Given the description of an element on the screen output the (x, y) to click on. 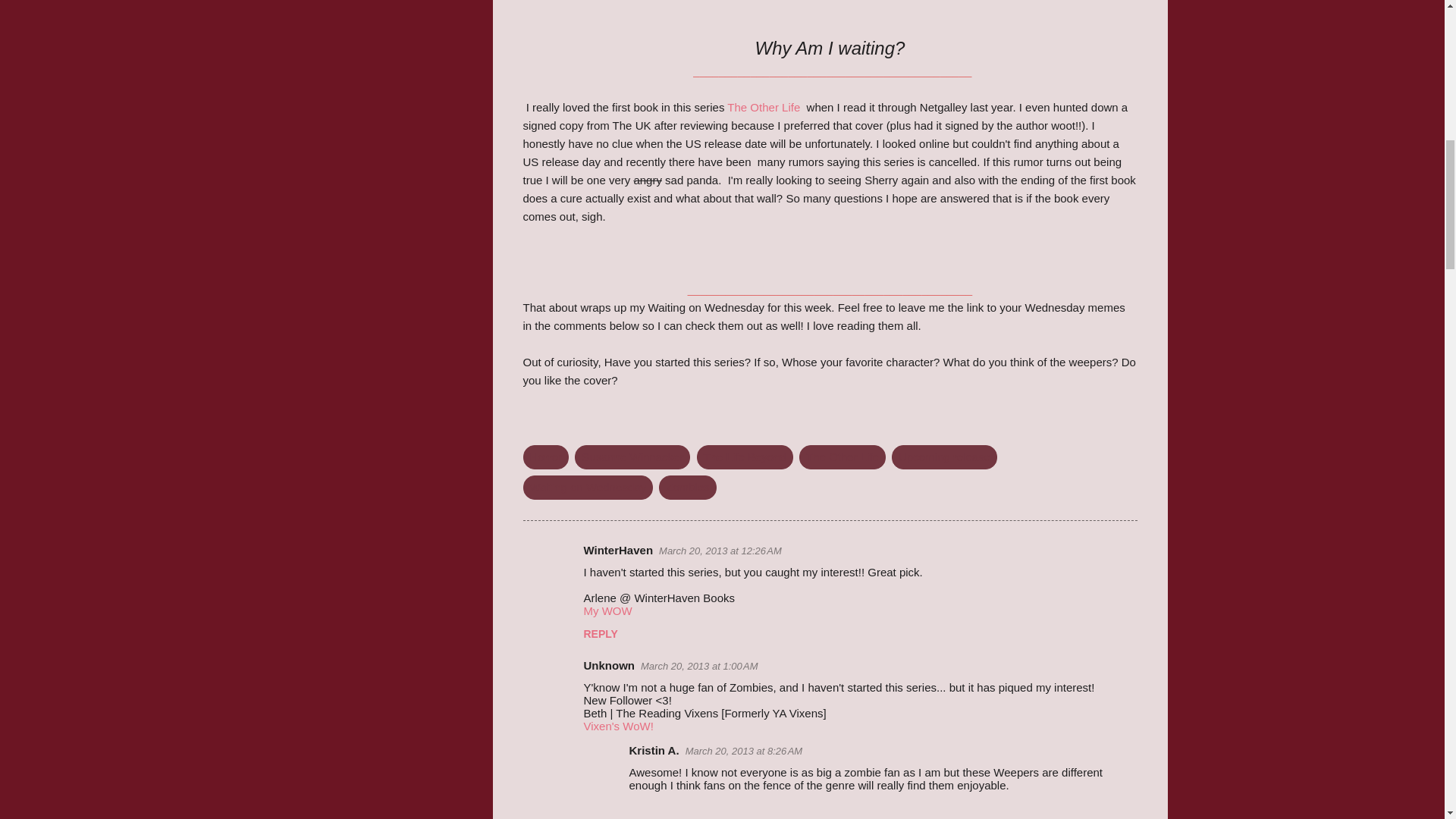
Susanne Winnacker (632, 456)
Kristin A. (653, 749)
Horror (545, 456)
Upcoming release (944, 456)
The Life Beyond (745, 456)
WinterHaven (618, 549)
The Other Life (842, 456)
The Other Life (762, 106)
My WOW (607, 610)
Vixen's WoW! (618, 725)
Unknown (608, 665)
Waiting on Wednesday (587, 486)
